Given the description of an element on the screen output the (x, y) to click on. 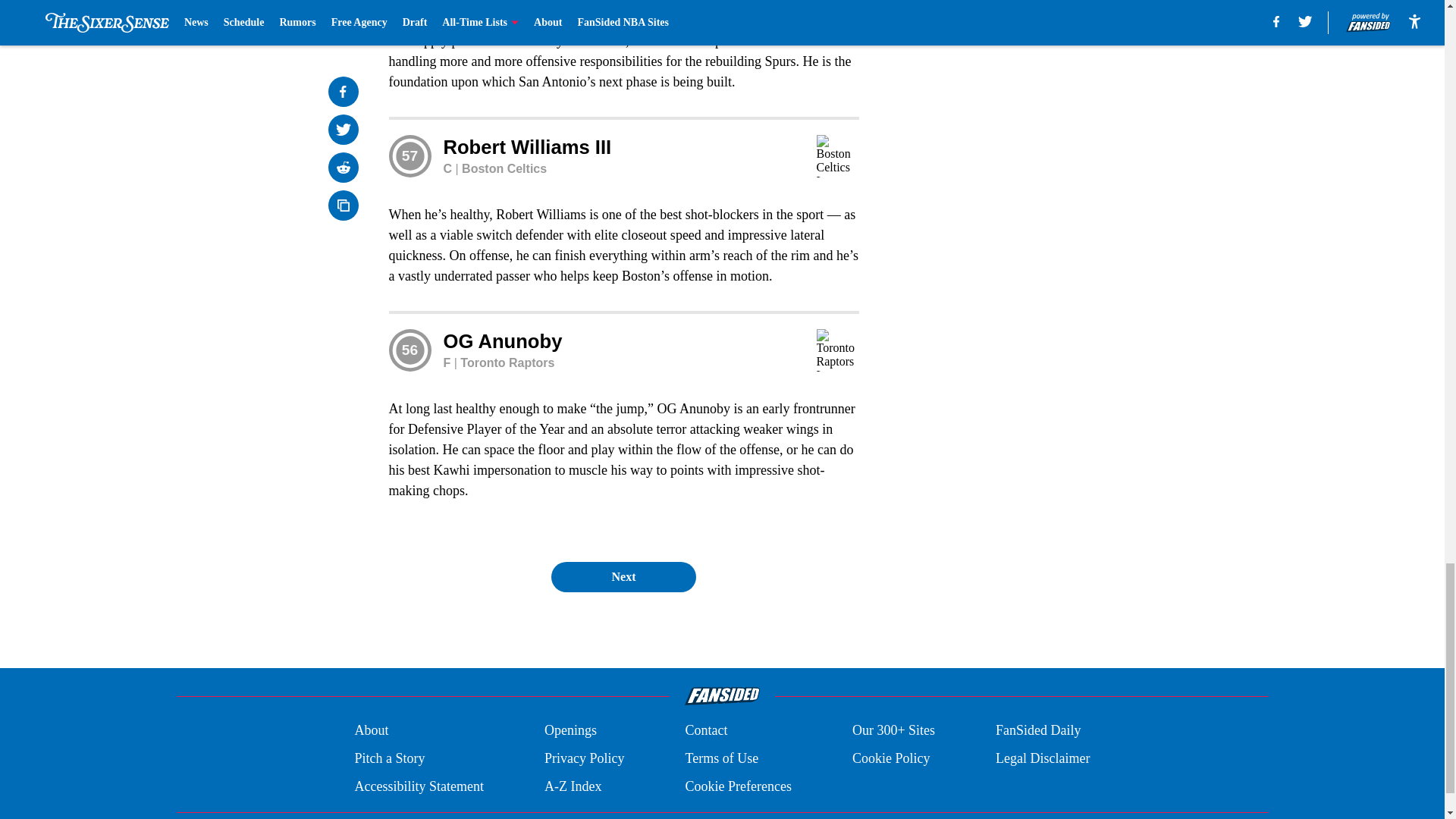
Next (622, 576)
Legal Disclaimer (1042, 758)
Accessibility Statement (418, 786)
FanSided Daily (1038, 730)
About (370, 730)
Terms of Use (721, 758)
Contact (705, 730)
Privacy Policy (584, 758)
Cookie Policy (890, 758)
Pitch a Story (389, 758)
